Given the description of an element on the screen output the (x, y) to click on. 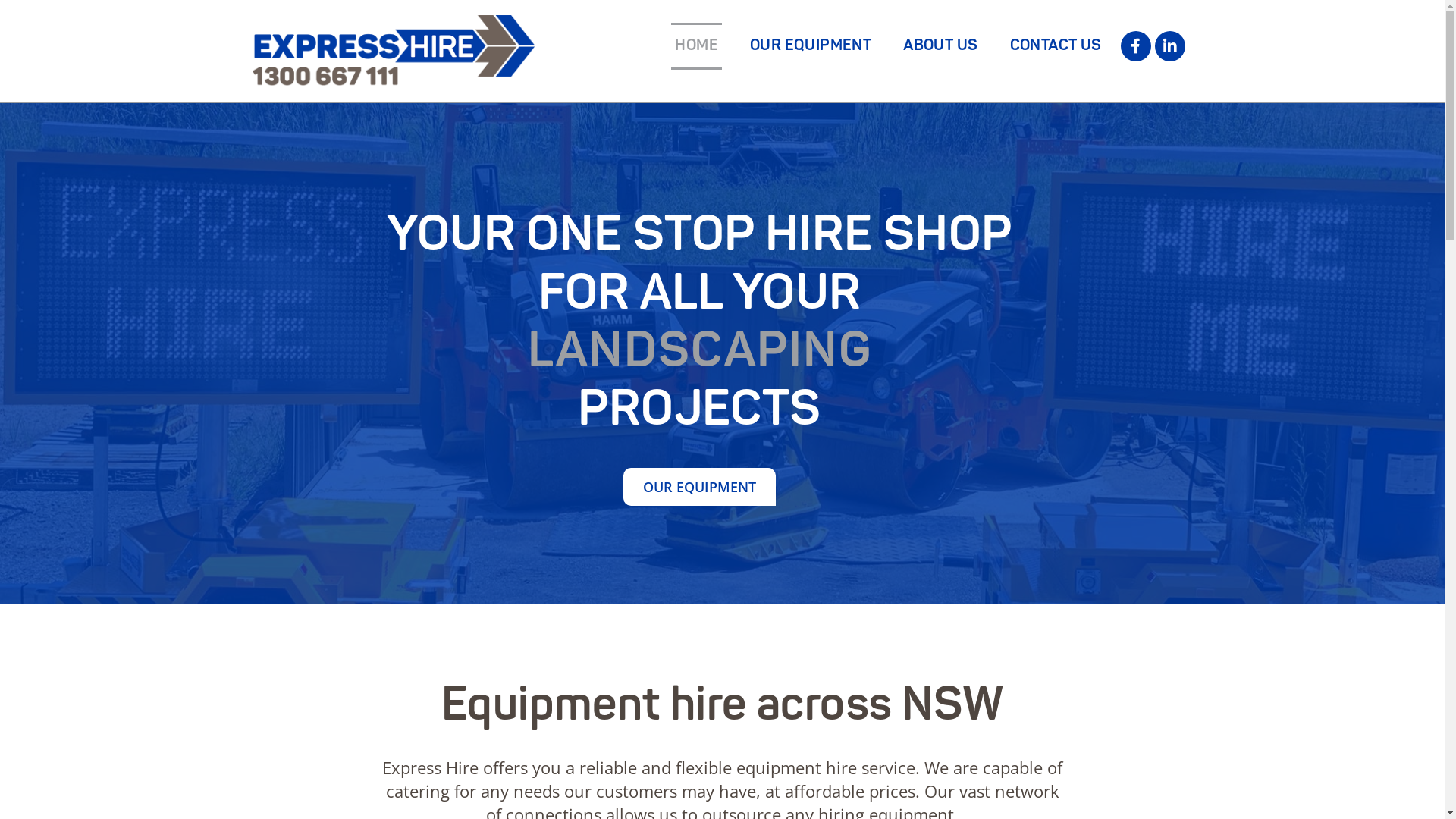
OUR EQUIPMENT Element type: text (699, 486)
HOME Element type: text (696, 45)
ABOUT US Element type: text (940, 45)
CONTACT US Element type: text (1054, 45)
OUR EQUIPMENT Element type: text (810, 45)
